Given the description of an element on the screen output the (x, y) to click on. 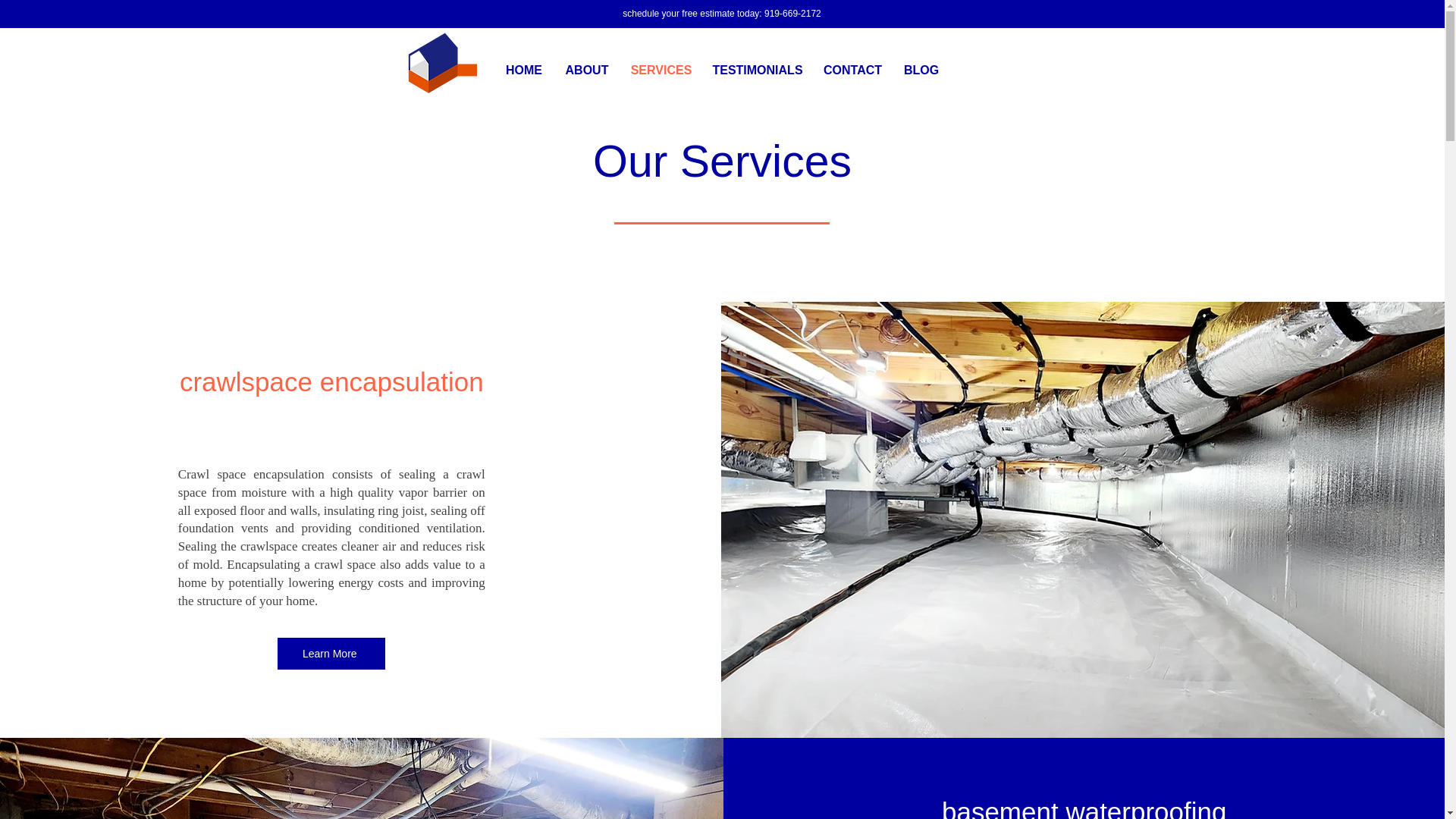
SERVICES (661, 70)
TESTIMONIALS (756, 70)
CONTACT (852, 70)
ABOUT (586, 70)
Learn More (331, 653)
